Given the description of an element on the screen output the (x, y) to click on. 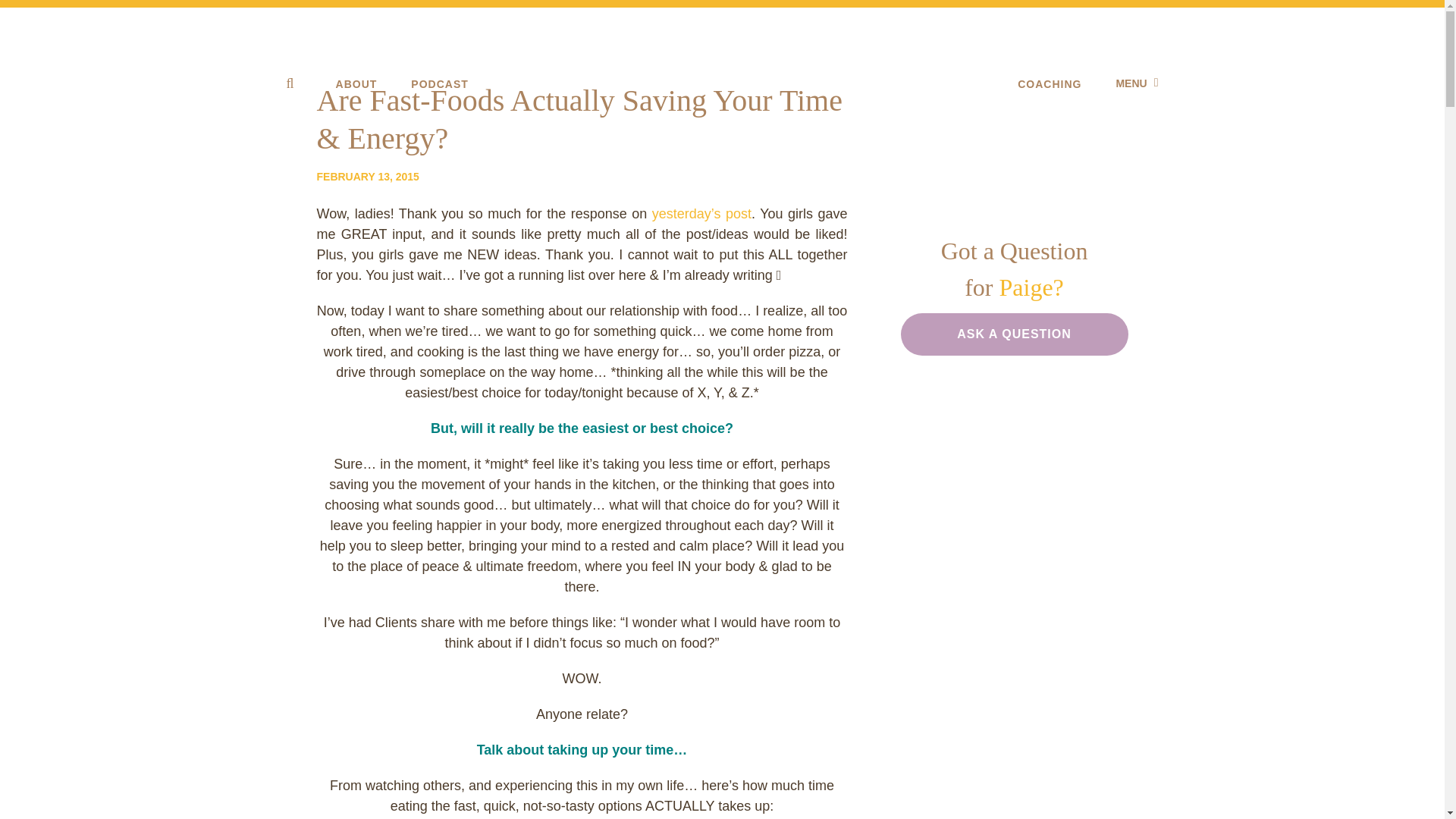
ASK A QUESTION (1014, 333)
Search (23, 9)
PODCAST (438, 83)
MENU (1136, 83)
ABOUT (356, 83)
COACHING (1049, 83)
